Given the description of an element on the screen output the (x, y) to click on. 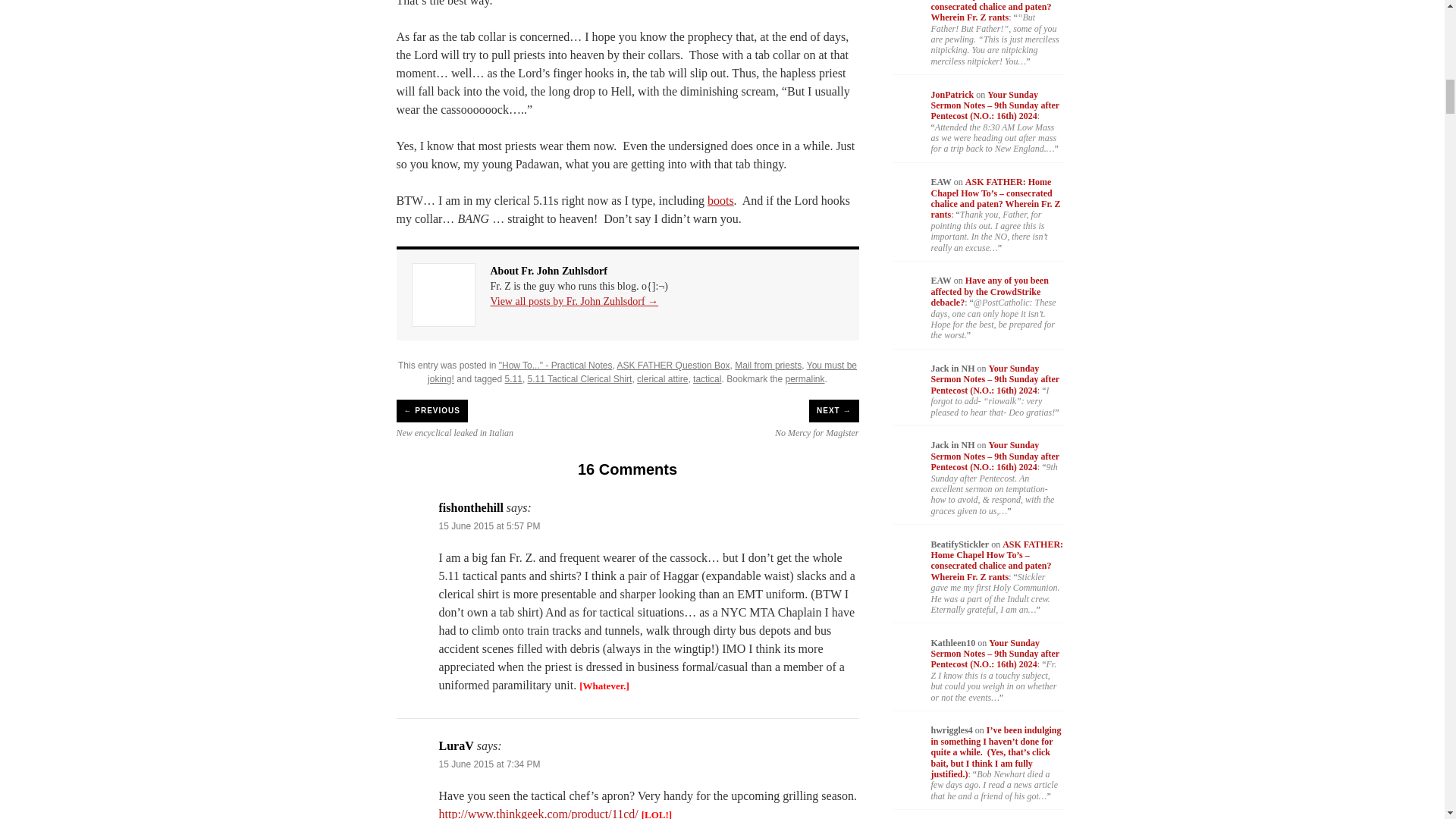
Permalink to ASK FATHER: 5.11 Tactical Clerical Shirts (805, 378)
